Given the description of an element on the screen output the (x, y) to click on. 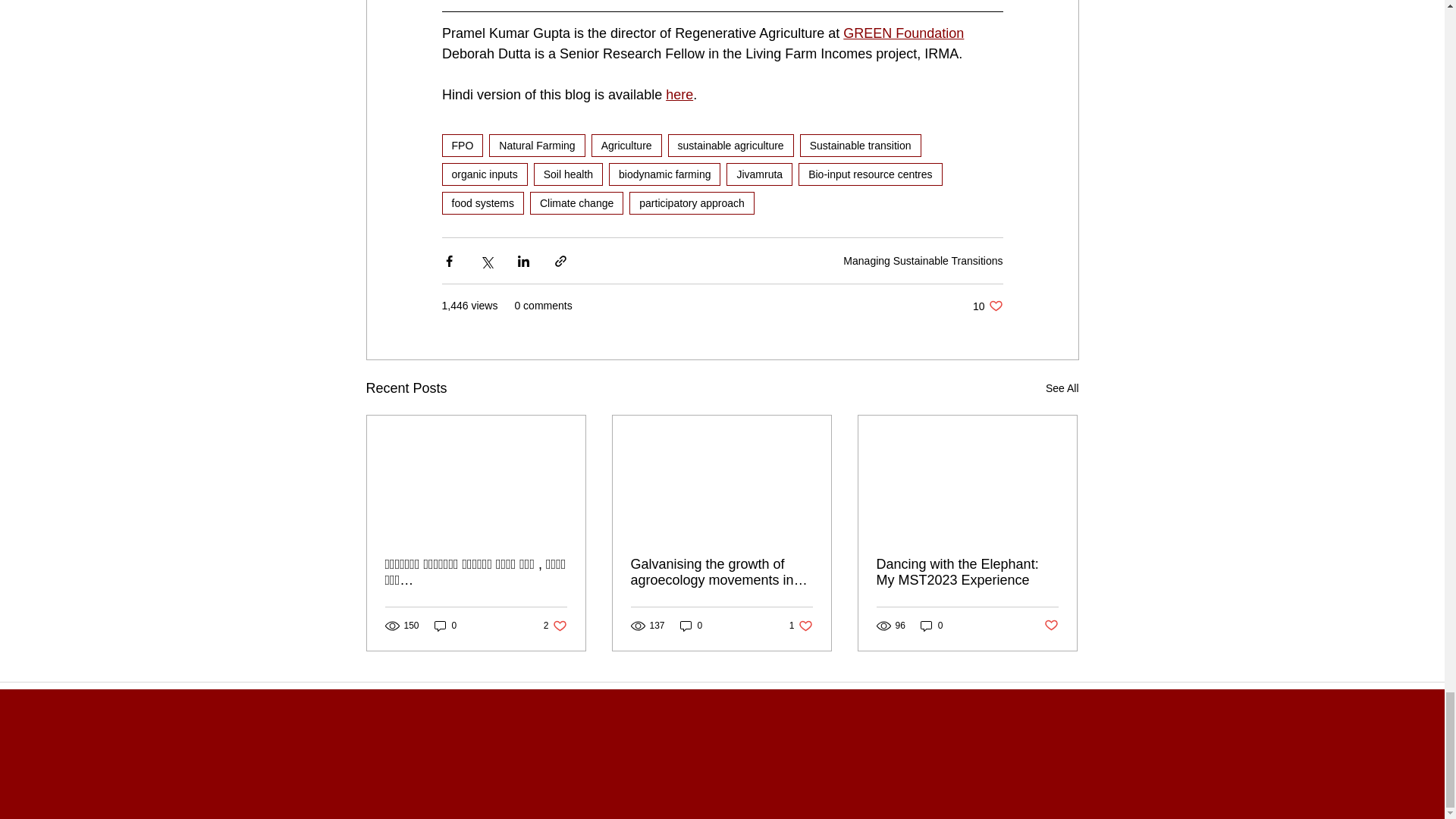
FPO (462, 145)
GREEN Foundation (903, 32)
here (679, 94)
